Given the description of an element on the screen output the (x, y) to click on. 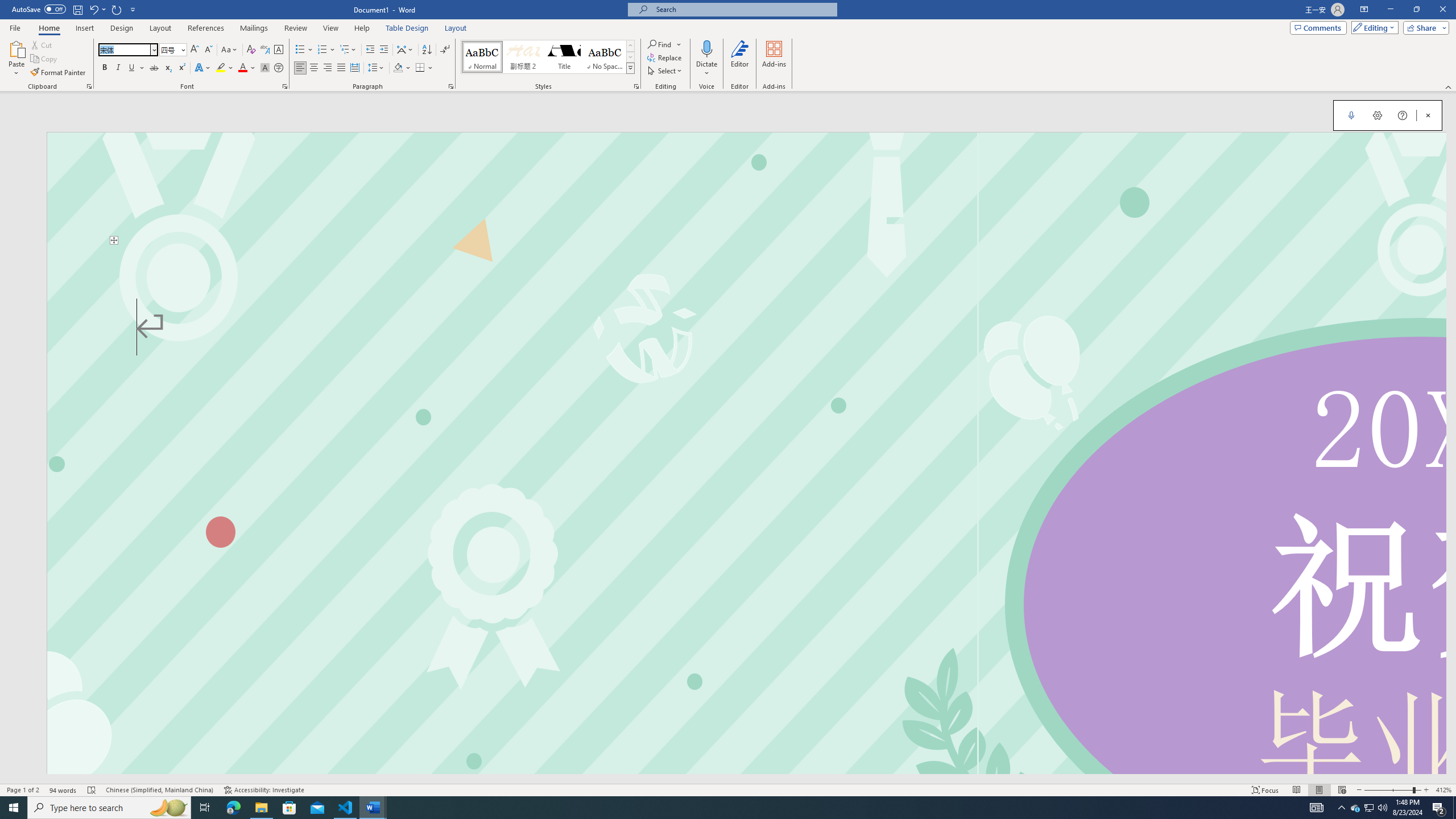
Undo Text Fill Effect (96, 9)
